Given the description of an element on the screen output the (x, y) to click on. 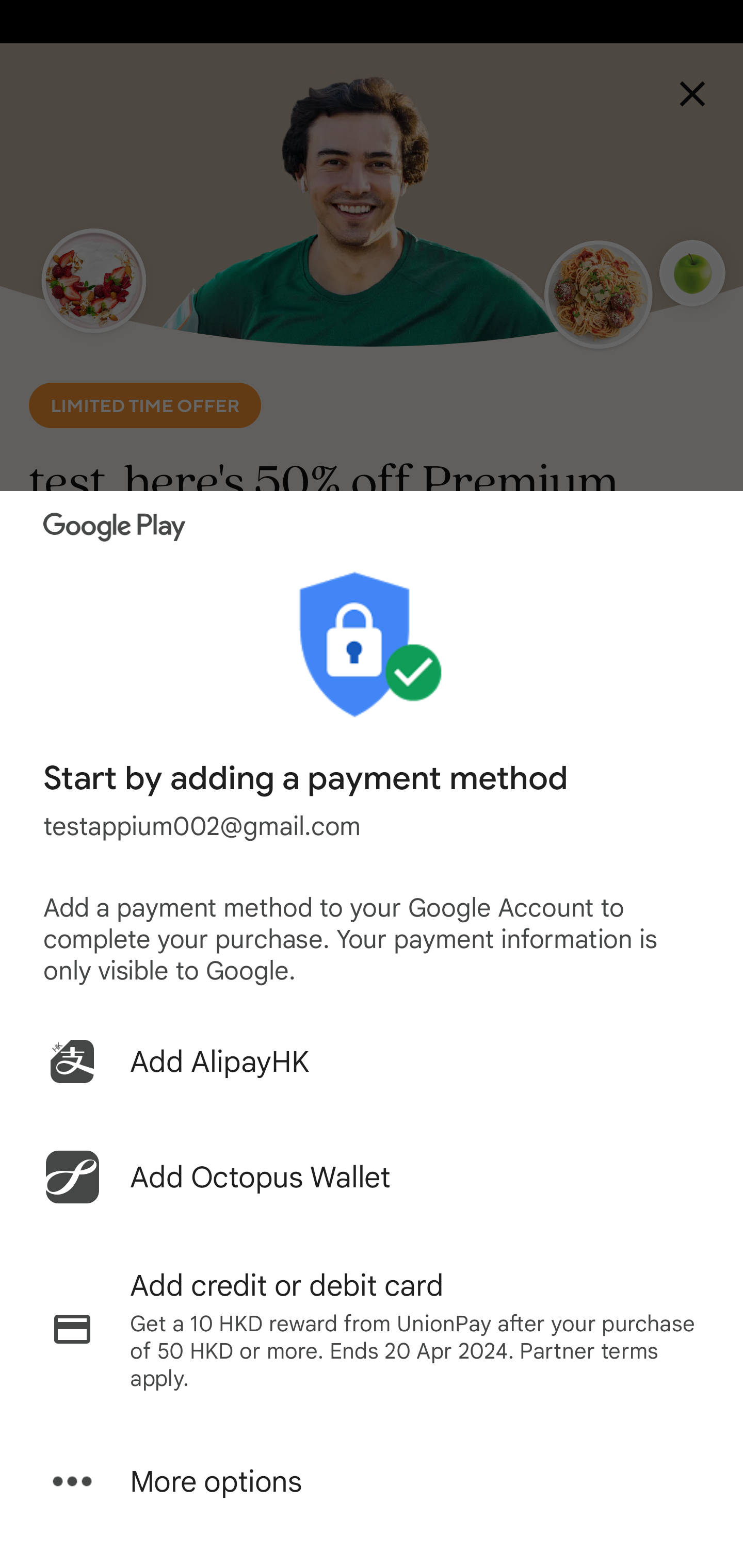
Add AlipayHK (371, 1061)
Add Octopus Wallet (371, 1177)
More options (371, 1481)
